Given the description of an element on the screen output the (x, y) to click on. 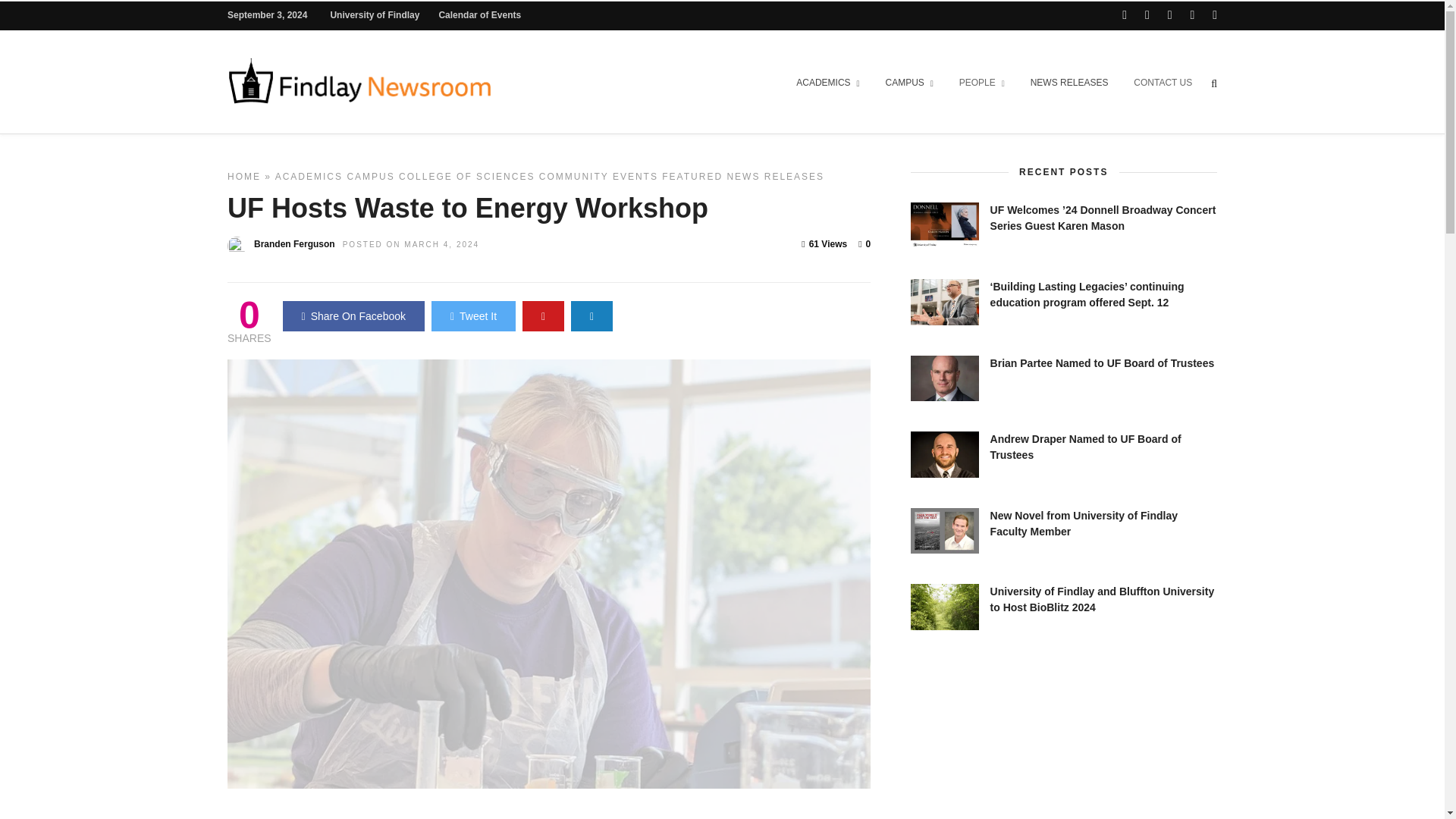
Share On Pinterest (543, 316)
University of Findlay (374, 14)
Share by Email (591, 316)
Share On Facebook (353, 316)
Calendar of Events (479, 14)
Share On Twitter (472, 316)
